Given the description of an element on the screen output the (x, y) to click on. 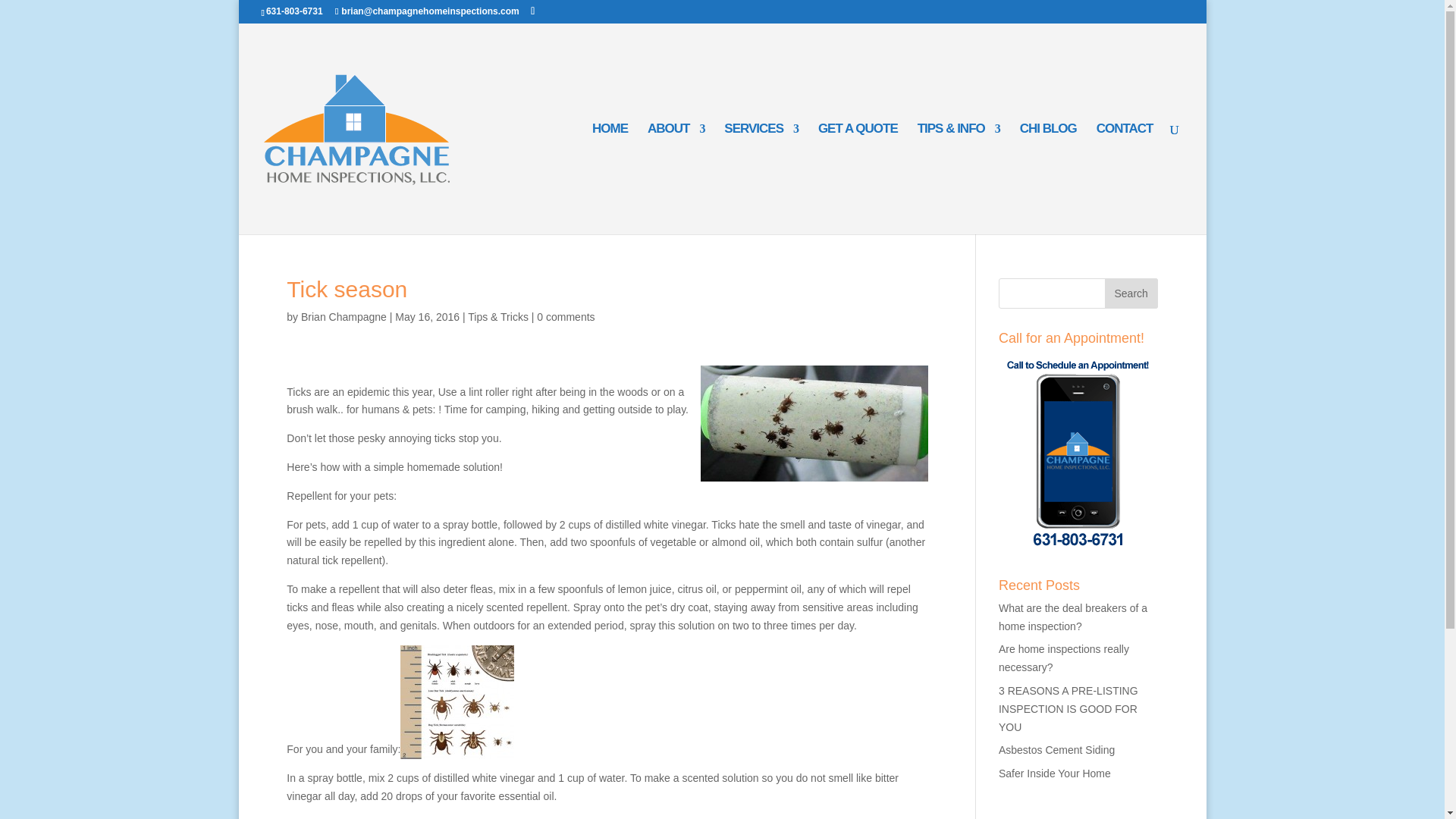
CHI BLOG (1048, 178)
Posts by Brian Champagne (344, 316)
GET A QUOTE (858, 178)
Search (1131, 293)
ABOUT (675, 178)
CONTACT (1124, 178)
HOME (609, 178)
SERVICES (760, 178)
